Given the description of an element on the screen output the (x, y) to click on. 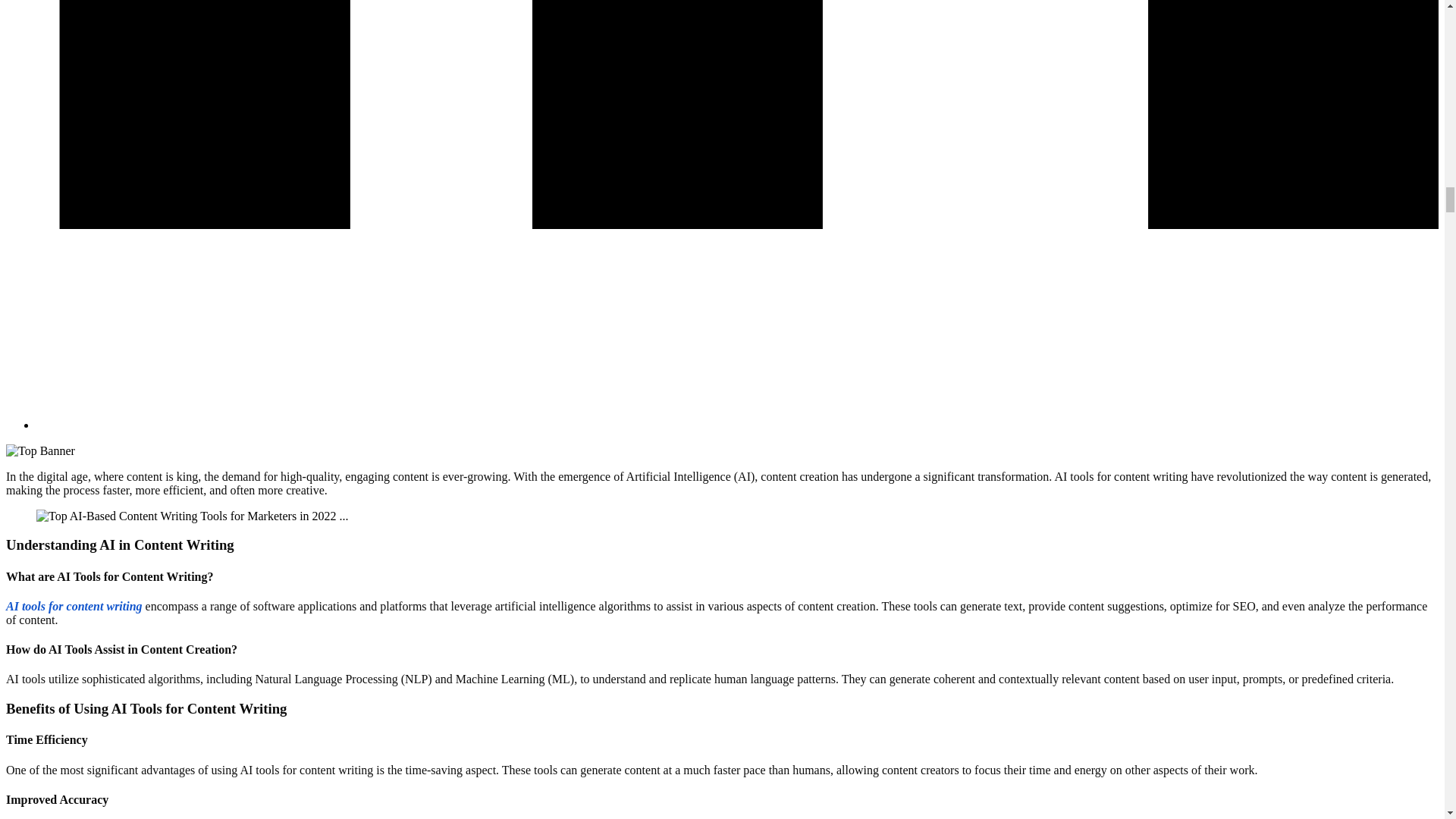
AI tools for content writing (73, 605)
Top Banner (40, 450)
